Given the description of an element on the screen output the (x, y) to click on. 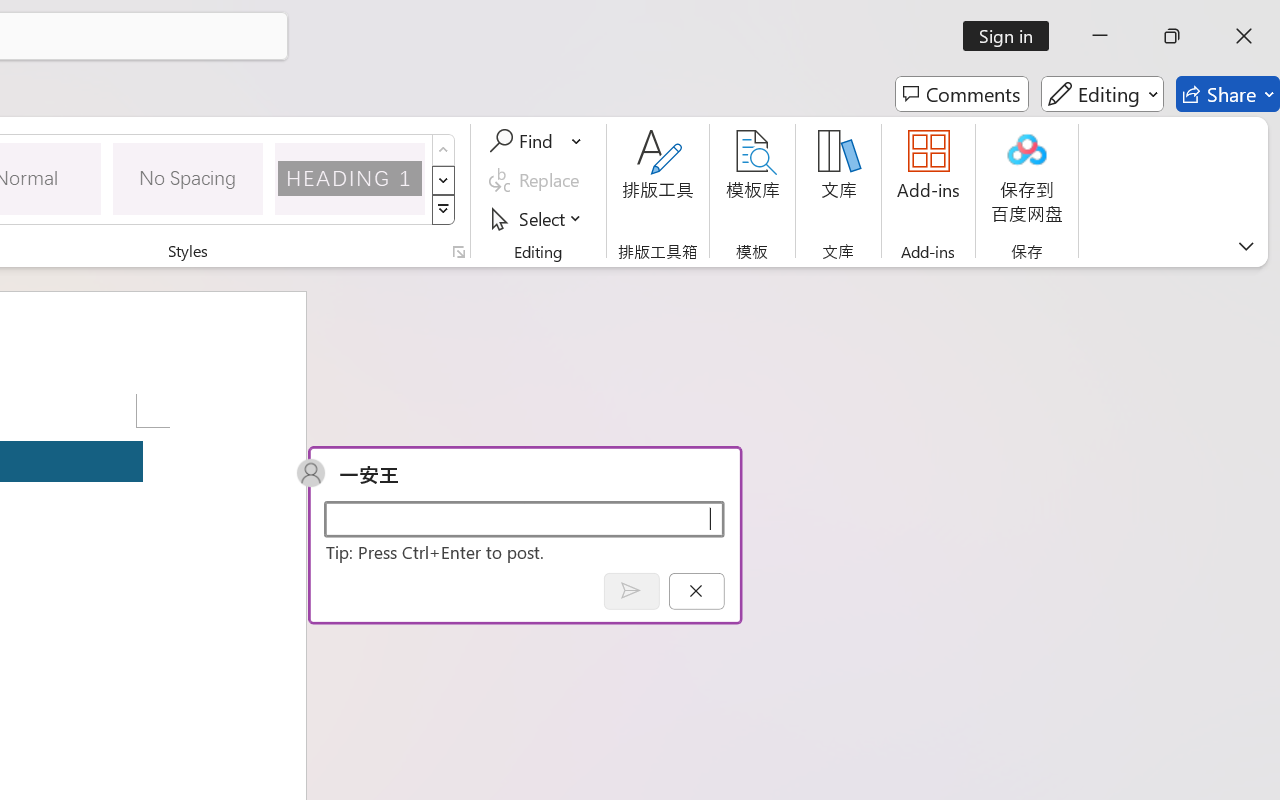
Sign in (1012, 35)
Post comment (Ctrl + Enter) (630, 590)
Start a conversation (524, 518)
